Given the description of an element on the screen output the (x, y) to click on. 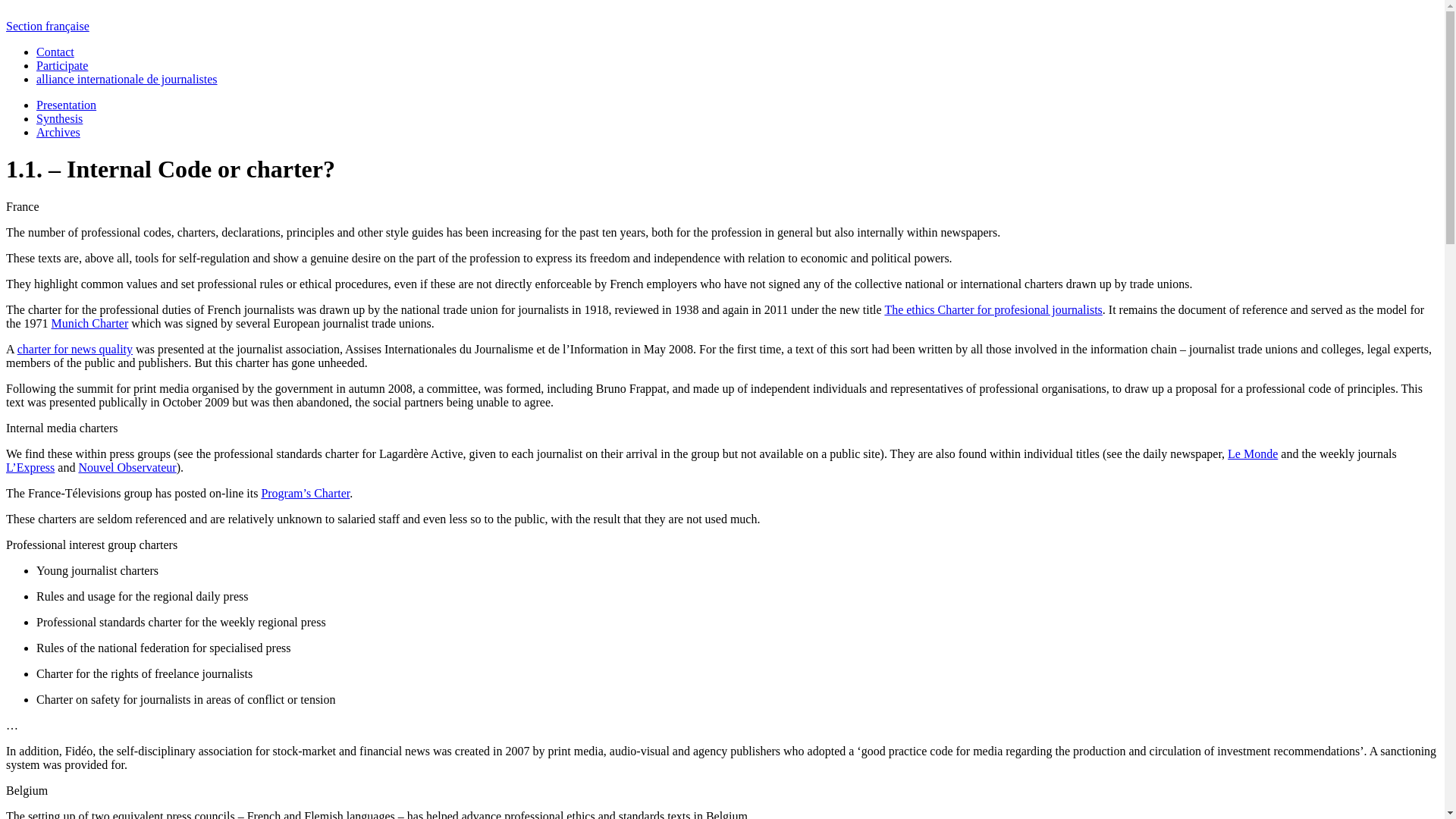
Synthesis (59, 118)
Archives (58, 132)
Munich Charter (89, 323)
Contact (55, 51)
charter for news quality (74, 349)
alliance internationale de journalistes (126, 78)
Presentation (66, 104)
Participate (61, 65)
Le Monde (1252, 453)
The ethics Charter for profesional journalists (992, 309)
